Given the description of an element on the screen output the (x, y) to click on. 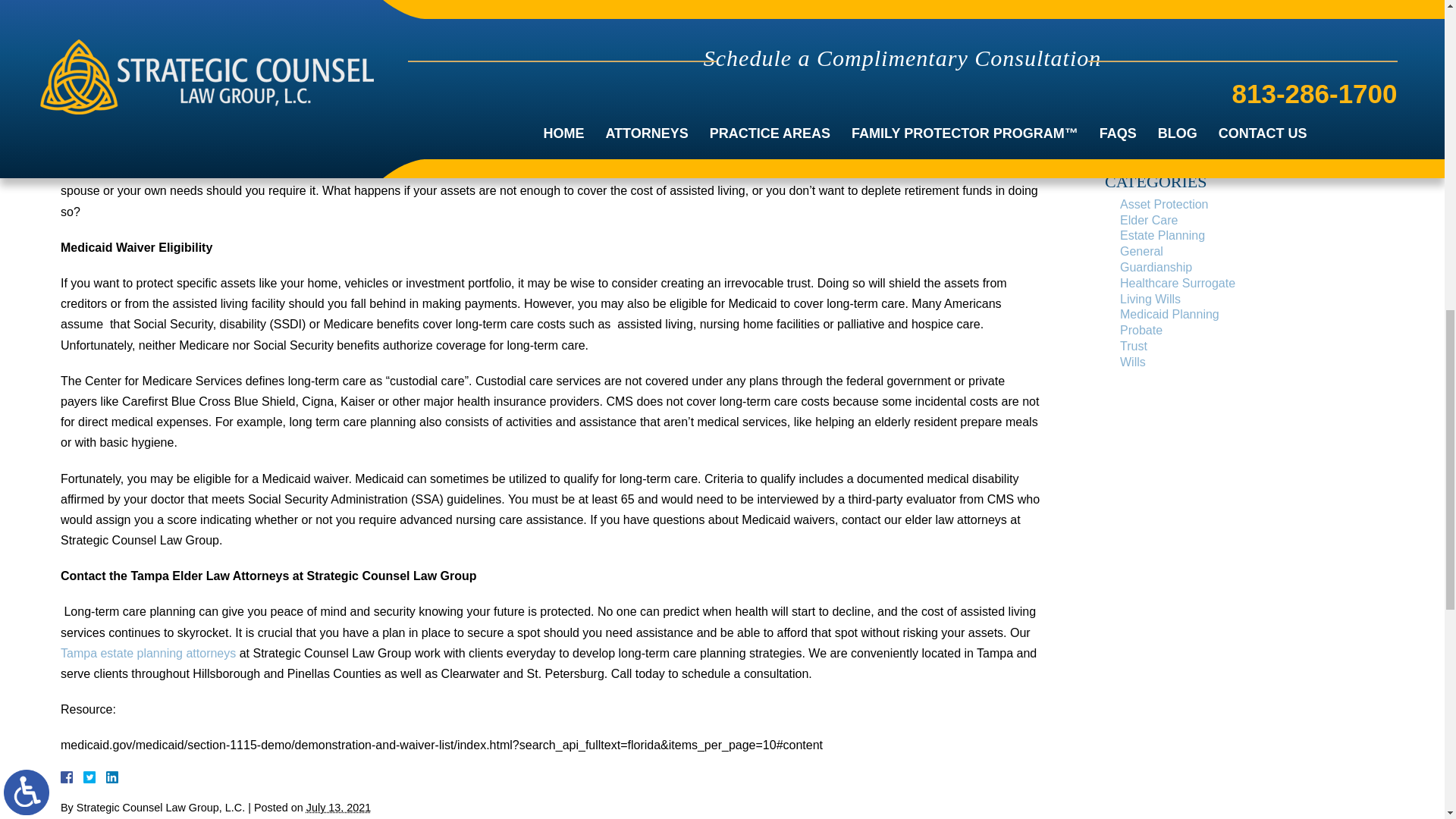
Facebook (85, 776)
Twitter (95, 776)
LongTerm3 (136, 21)
LinkedIn (106, 776)
2021-07-13T03:00:07-0700 (338, 807)
